Given the description of an element on the screen output the (x, y) to click on. 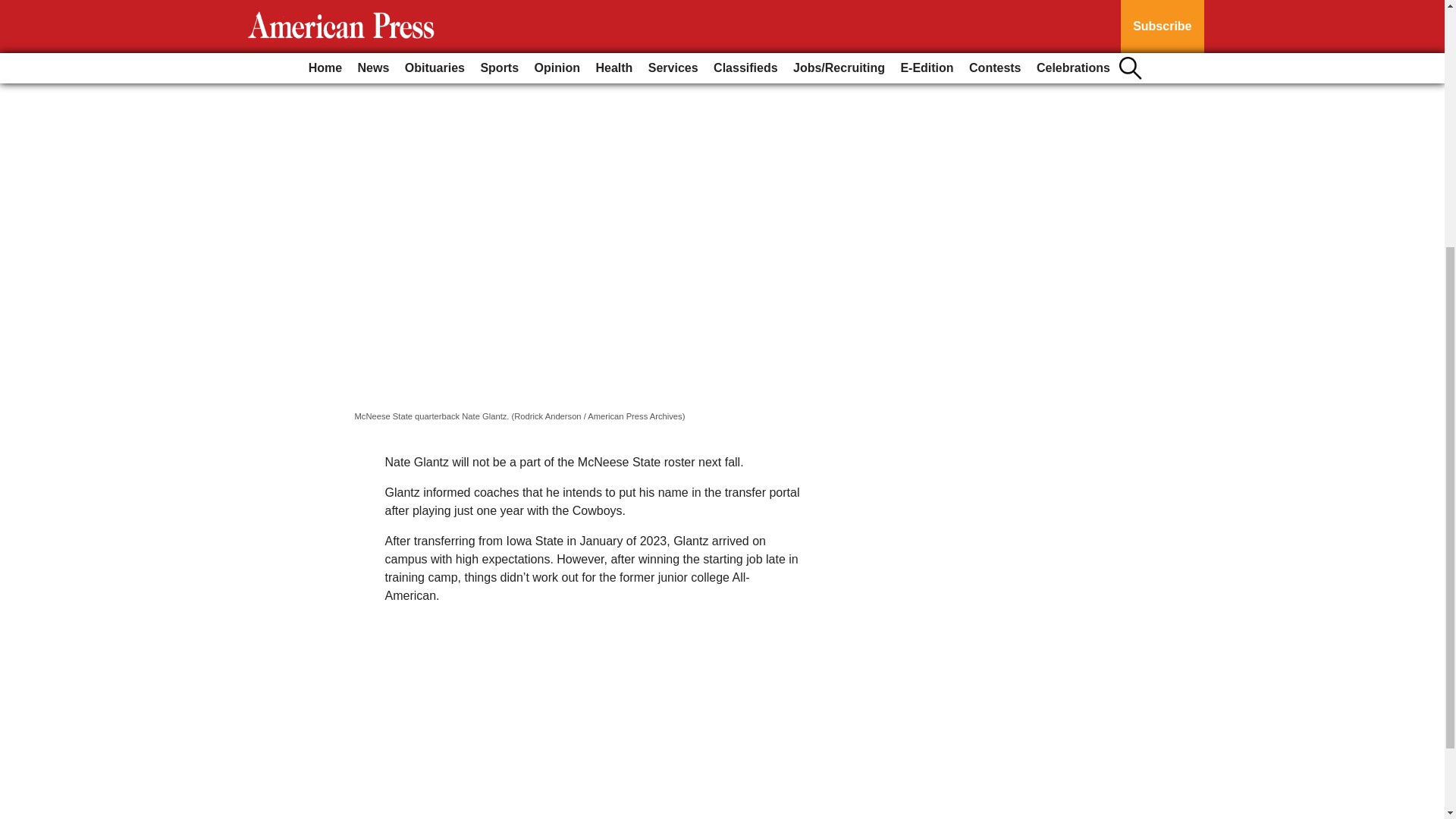
Jim Gazzolo (392, 2)
